Given the description of an element on the screen output the (x, y) to click on. 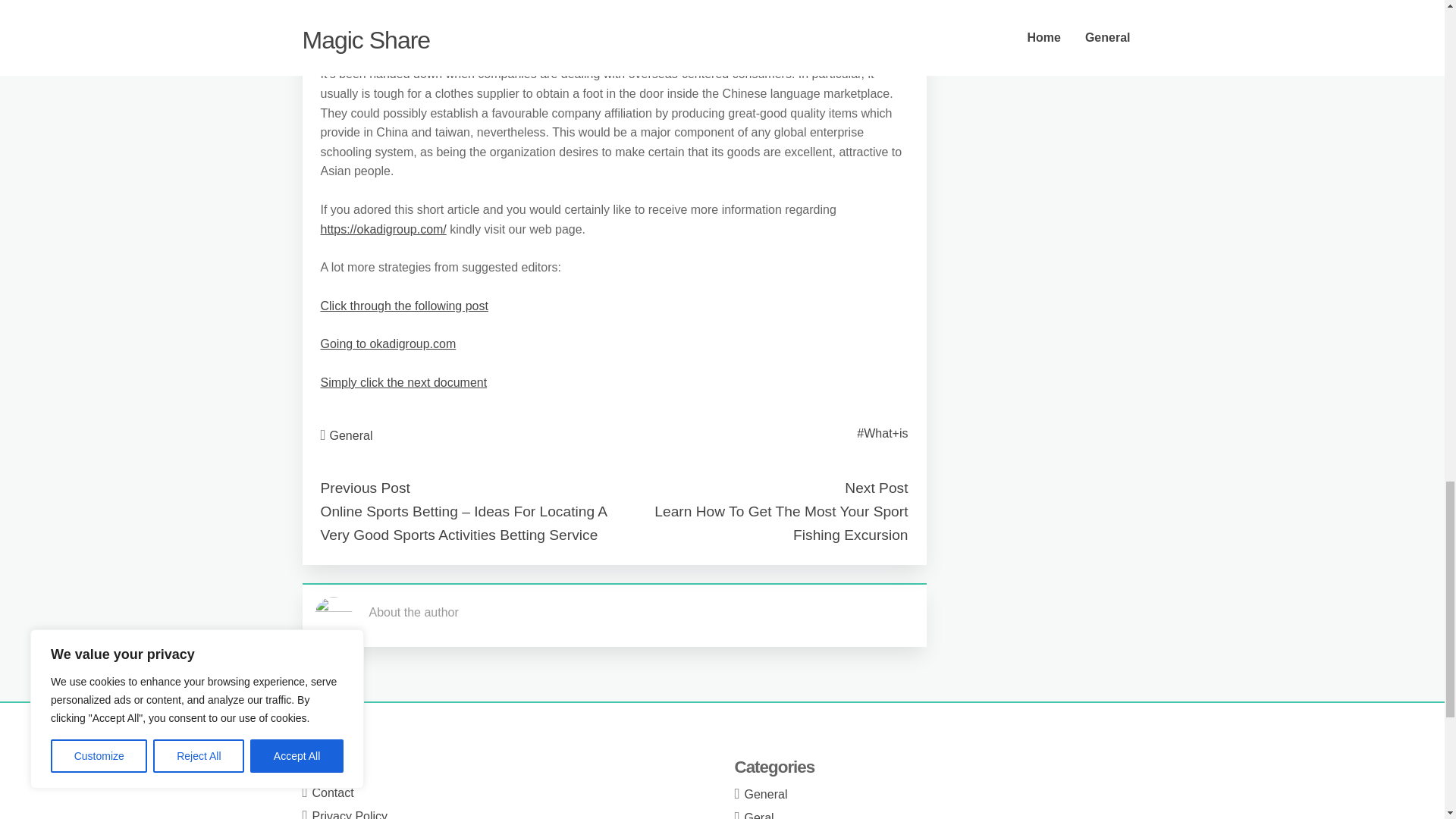
Previous Post (364, 487)
Next Post (875, 487)
Learn How To Get The Most Your Sport Fishing Excursion (780, 522)
Click through the following post (403, 305)
Going to okadigroup.com (387, 343)
General (351, 435)
Simply click the next document (403, 382)
